Given the description of an element on the screen output the (x, y) to click on. 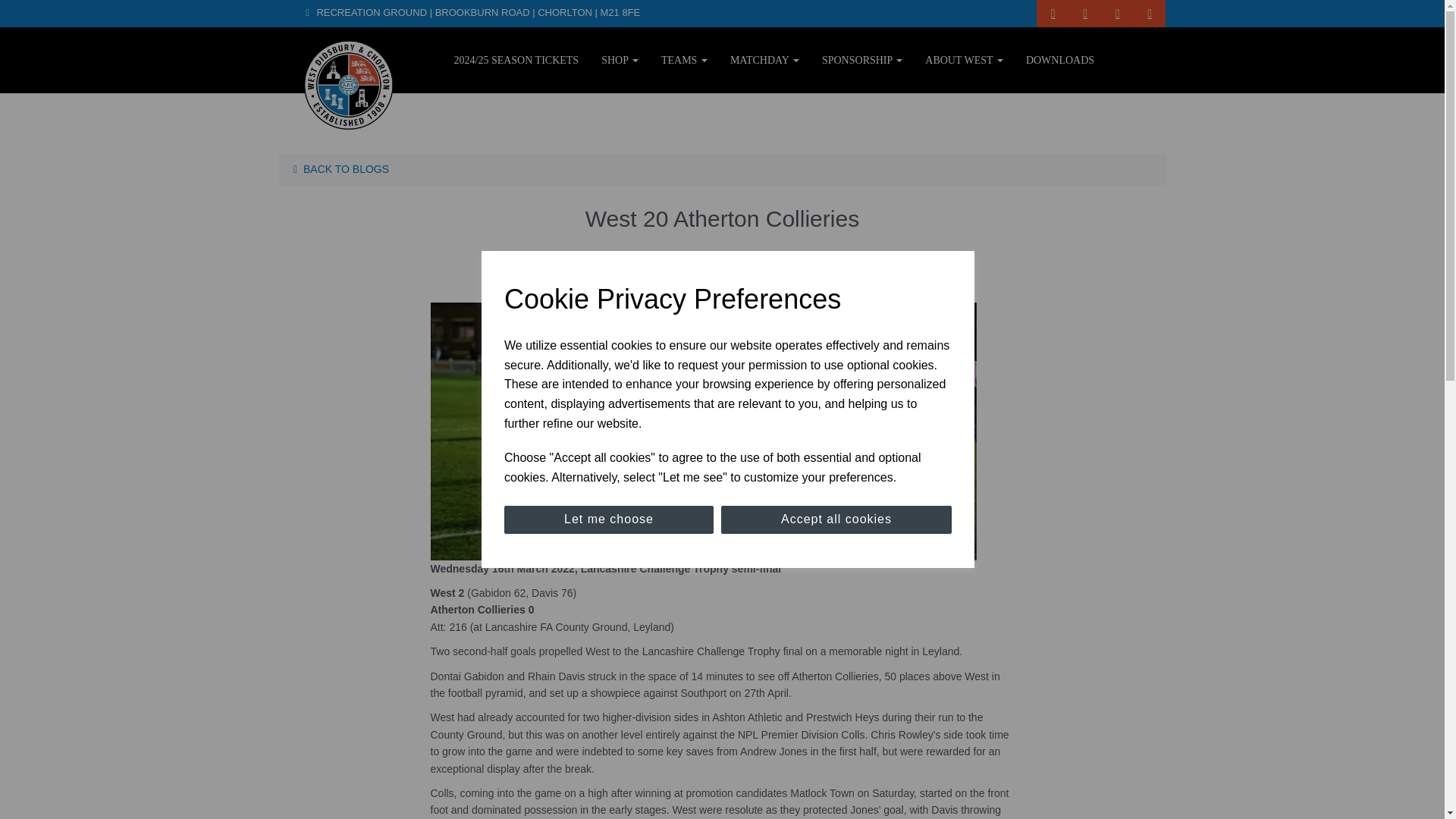
MATCHDAY (764, 60)
TEAMS (684, 60)
Let me choose (608, 519)
SHOP (619, 60)
Accept all cookies (836, 519)
